Given the description of an element on the screen output the (x, y) to click on. 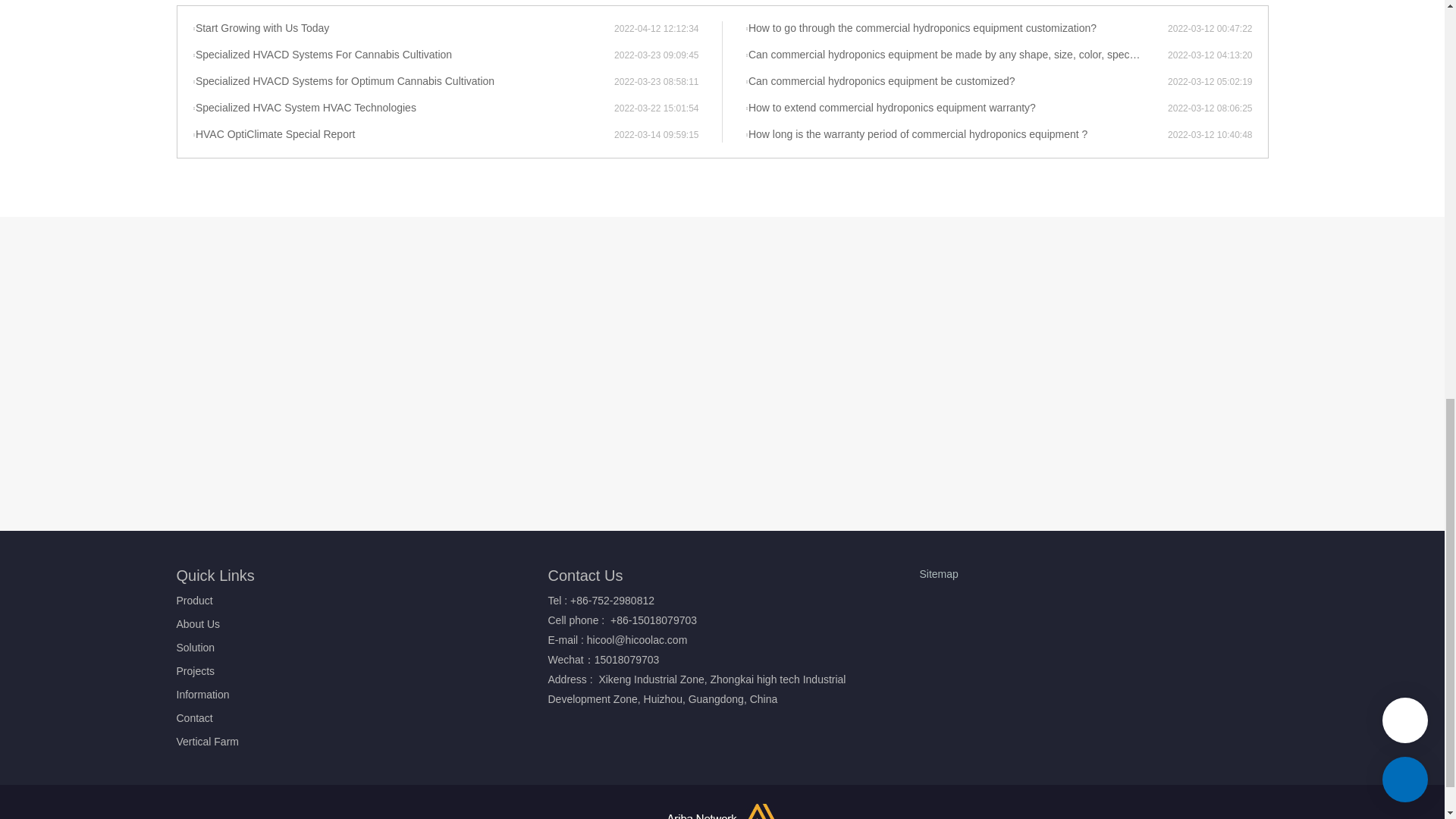
HVAC OptiClimate Special Report (403, 134)
Specialized HVACD Systems For Cannabis Cultivation (403, 55)
Specialized HVAC System HVAC Technologies (403, 108)
How to extend commercial hydroponics equipment warranty? (955, 108)
Can commercial hydroponics equipment be customized? (955, 81)
Specialized HVACD Systems for Optimum Cannabis Cultivation (403, 81)
Start Growing with Us Today (403, 28)
